Given the description of an element on the screen output the (x, y) to click on. 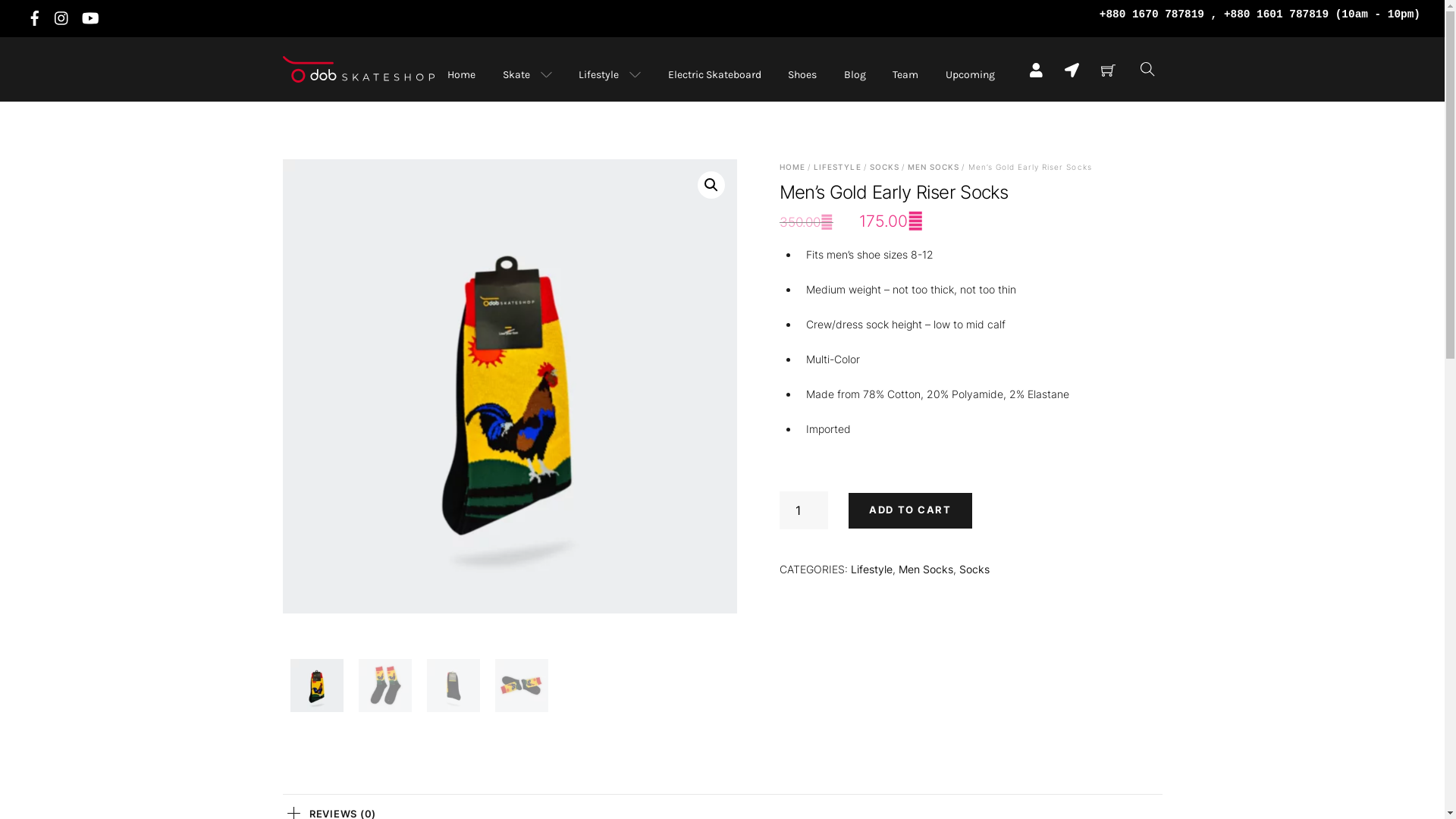
Electric Skateboard Element type: text (713, 74)
Men Socks Element type: text (925, 568)
Socks Element type: text (974, 568)
LIFESTYLE Element type: text (836, 167)
Skate Element type: text (526, 74)
ADD TO CART Element type: text (910, 510)
Lifestyle Element type: text (609, 74)
Men's Gold Early Riser Socks Element type: hover (509, 405)
Lifestyle Element type: text (871, 568)
HOME Element type: text (792, 167)
+880 1670 787819 Element type: text (1151, 14)
SOCKS Element type: text (884, 167)
Blog Element type: text (853, 74)
Upcoming Element type: text (969, 74)
Home Element type: text (461, 74)
DOB Logo Element type: hover (357, 88)
Shoes Element type: text (802, 74)
+880 1601 787819 Element type: text (1275, 14)
Team Element type: text (904, 74)
DOB SKATESHOP Element type: hover (357, 86)
MEN SOCKS Element type: text (933, 167)
